Given the description of an element on the screen output the (x, y) to click on. 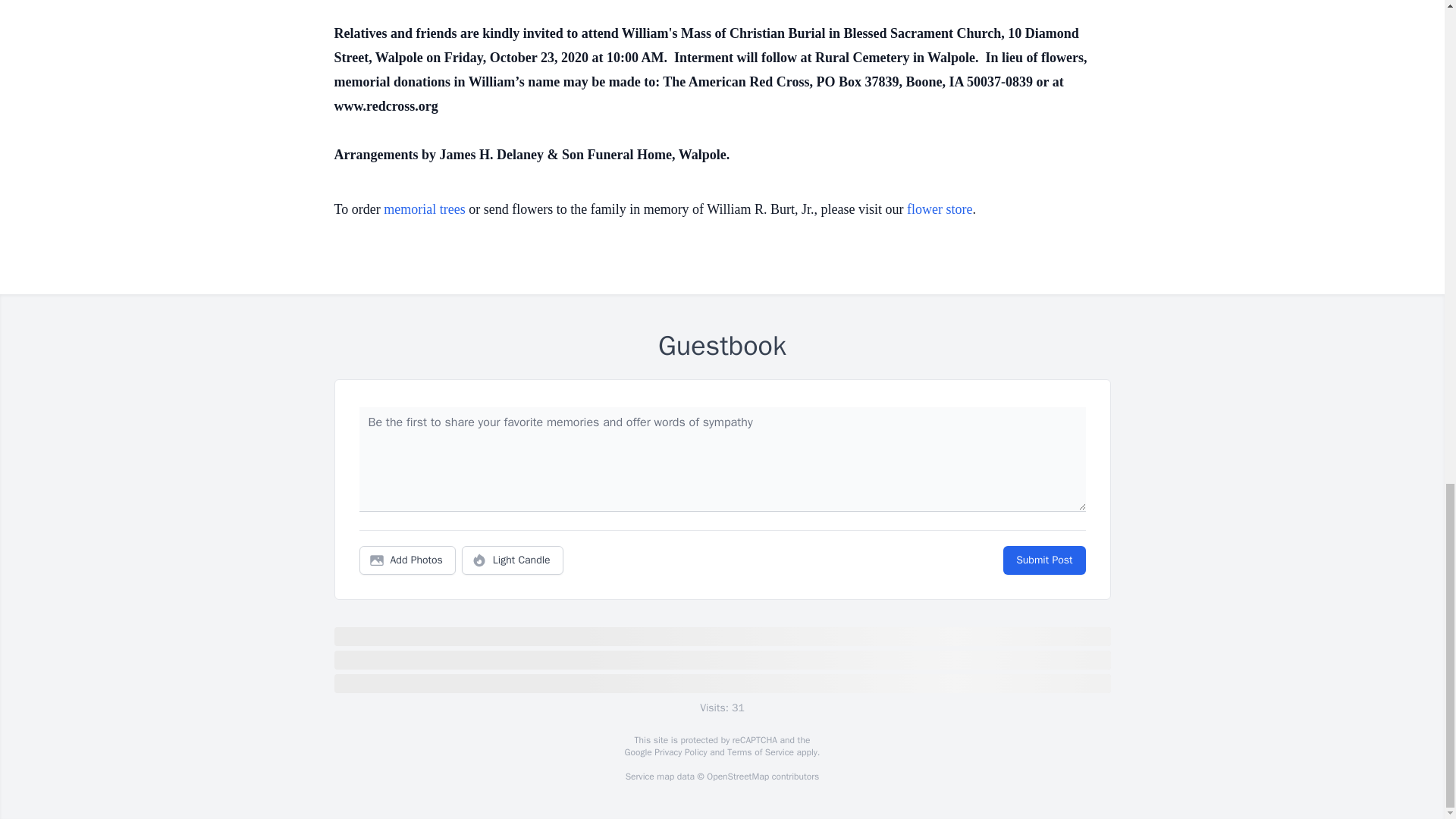
Light Candle (512, 560)
memorial trees (424, 209)
Privacy Policy (679, 752)
flower store (939, 209)
Submit Post (1043, 560)
Terms of Service (759, 752)
Add Photos (407, 560)
OpenStreetMap (737, 776)
